Given the description of an element on the screen output the (x, y) to click on. 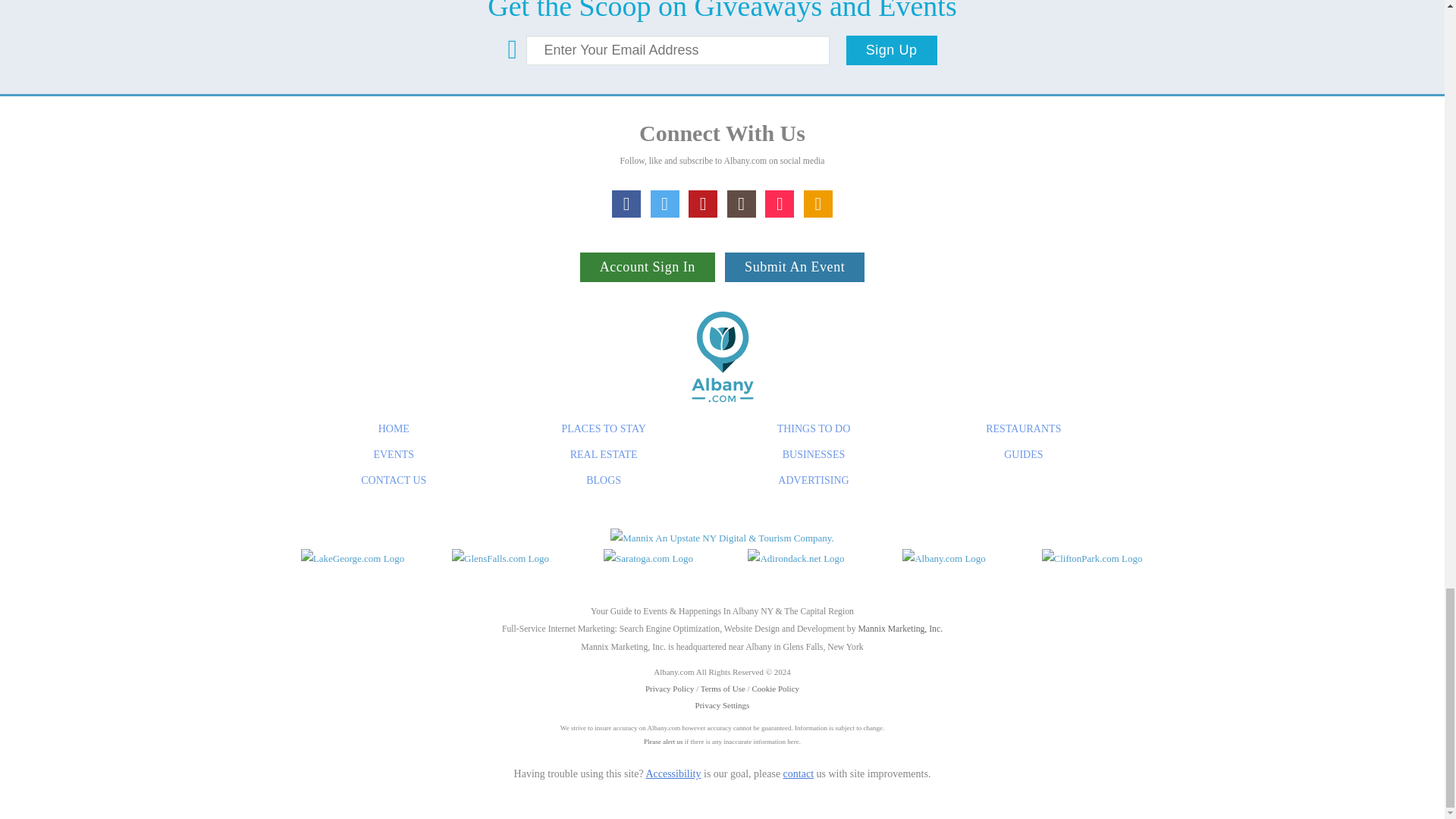
Pinterest (702, 203)
My Planner (817, 203)
X (664, 203)
Instagram (740, 203)
Facebook (625, 203)
TikTok (779, 203)
